Given the description of an element on the screen output the (x, y) to click on. 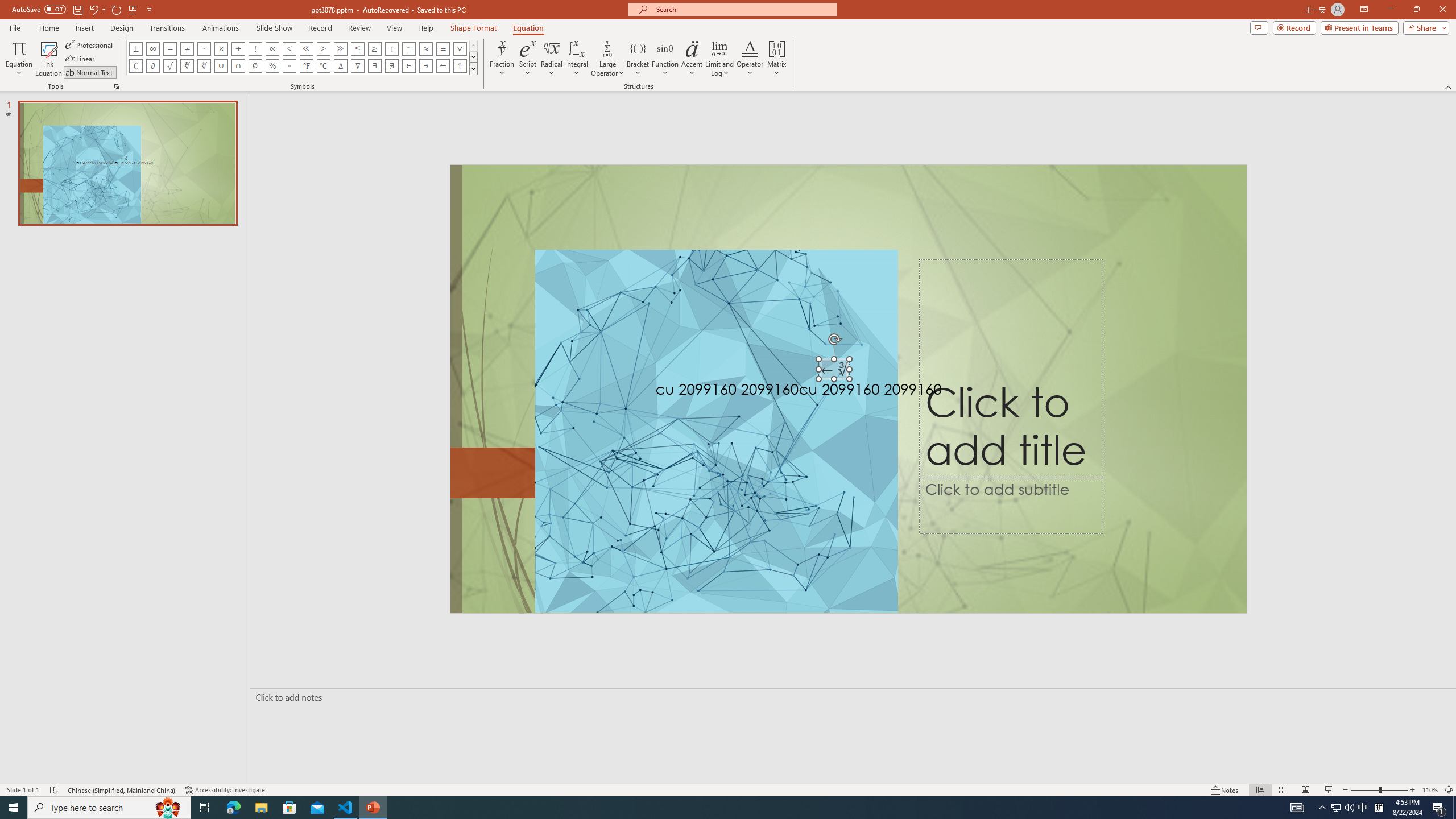
Equation Symbol Plus Minus (136, 48)
Equation Symbol Degrees Celsius (322, 65)
Equation Symbol Identical To (442, 48)
Equation Symbol Left Arrow (442, 65)
Equation Symbol Less Than or Equal To (357, 48)
